Given the description of an element on the screen output the (x, y) to click on. 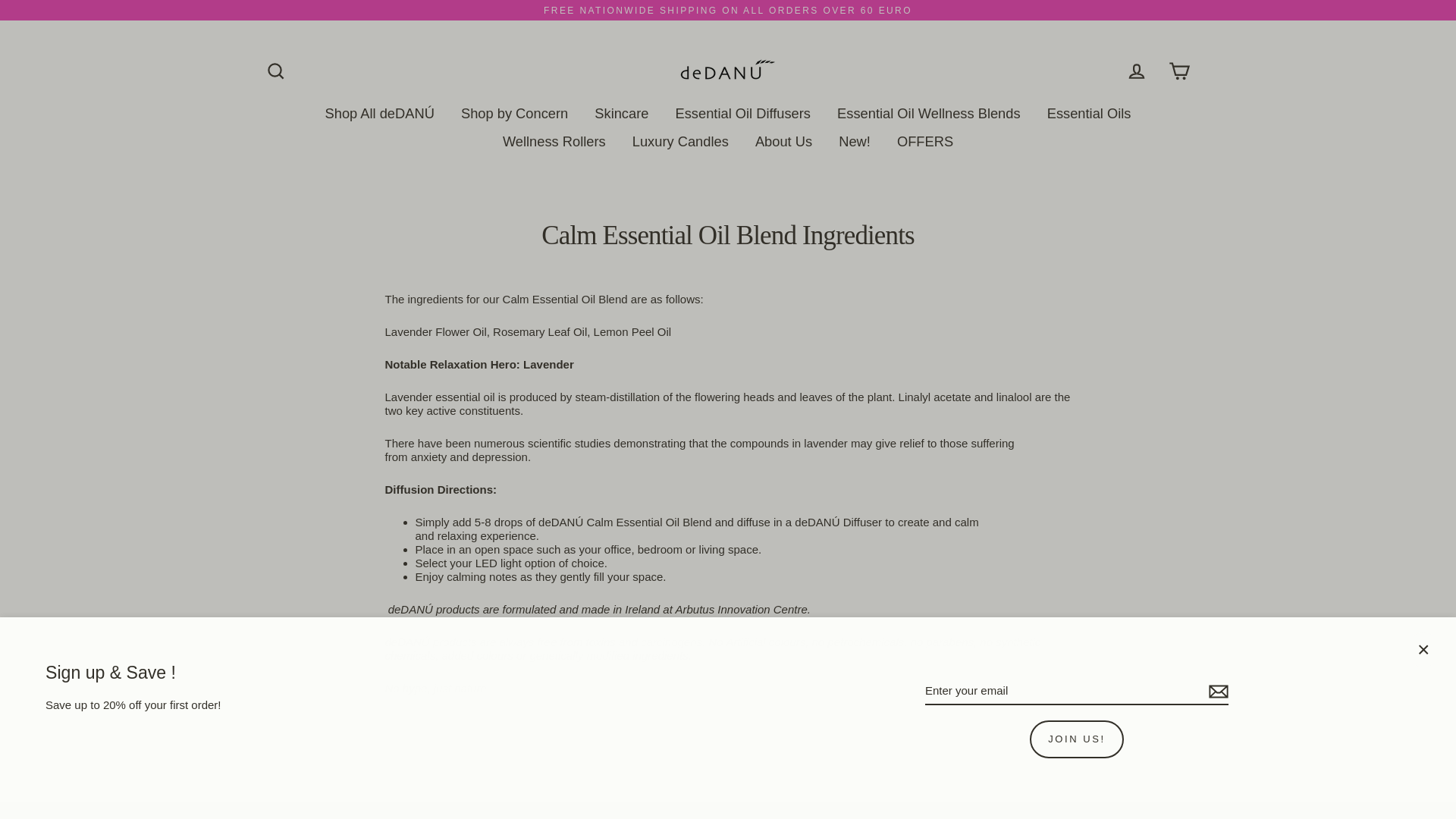
Subscribe (1216, 691)
